Given the description of an element on the screen output the (x, y) to click on. 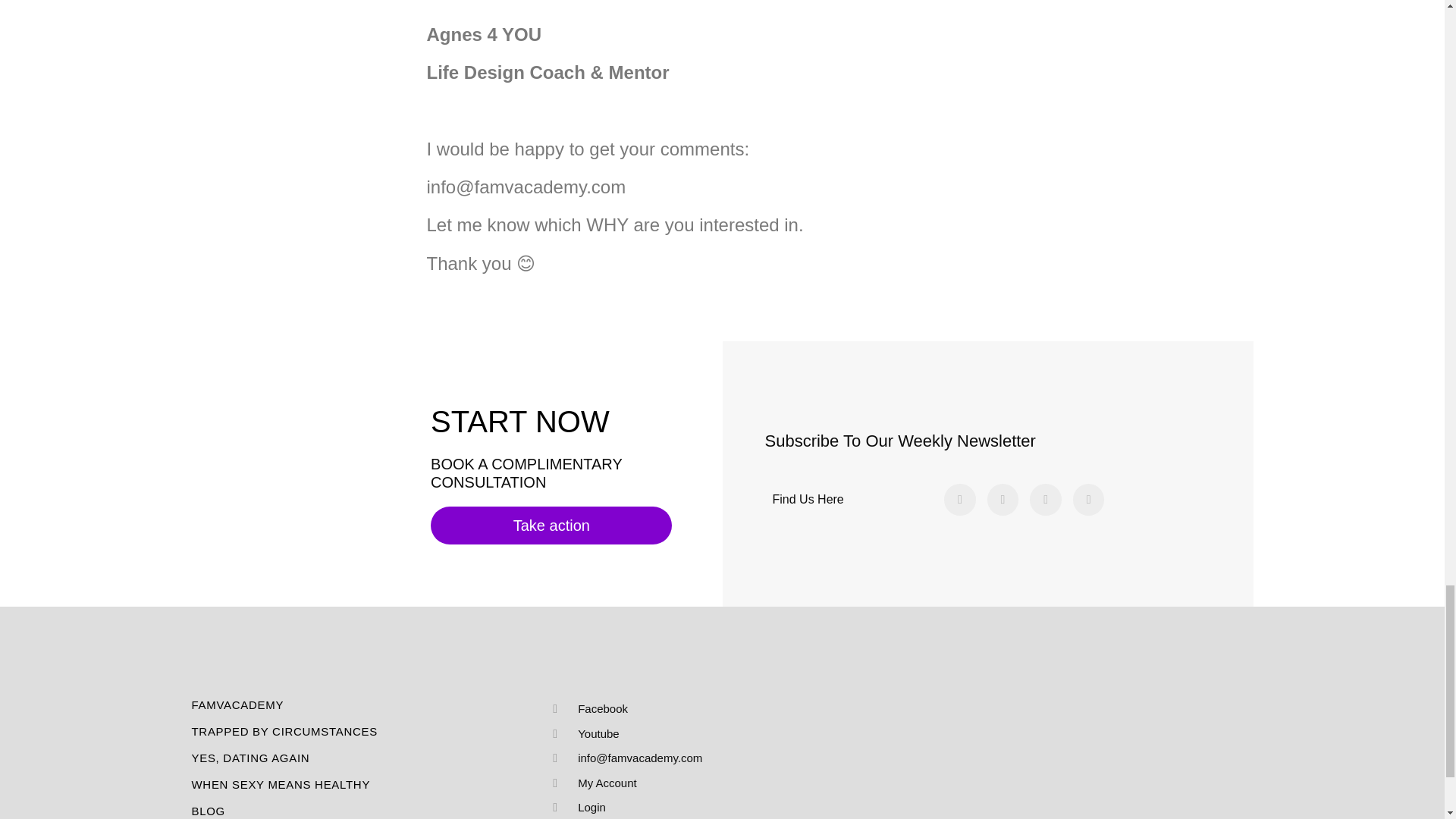
Youtube (715, 733)
Login (715, 807)
YES, DATING AGAIN (367, 758)
WHEN SEXY MEANS HEALTHY (367, 784)
Take action (550, 525)
Facebook (715, 709)
TRAPPED BY CIRCUMSTANCES (367, 731)
FAMVACADEMY (367, 704)
BLOG (367, 811)
My Account (715, 783)
